Given the description of an element on the screen output the (x, y) to click on. 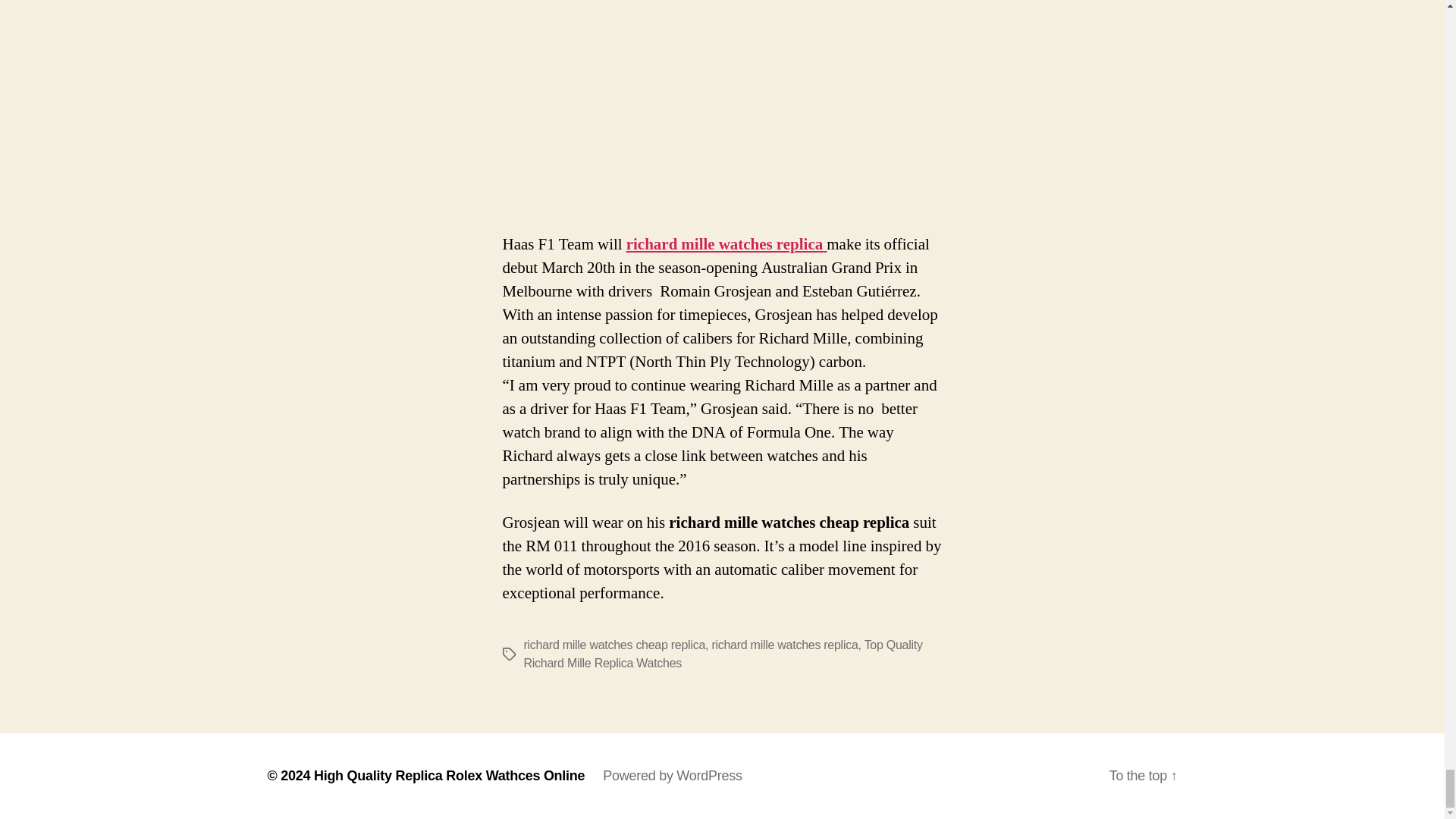
Powered by WordPress (671, 775)
High Quality Replica Rolex Wathces Online (449, 775)
richard mille watches replica (784, 644)
richard mille watches cheap replica (613, 644)
richard mille watches replica (726, 244)
Top Quality Richard Mille Replica Watches (721, 653)
